Given the description of an element on the screen output the (x, y) to click on. 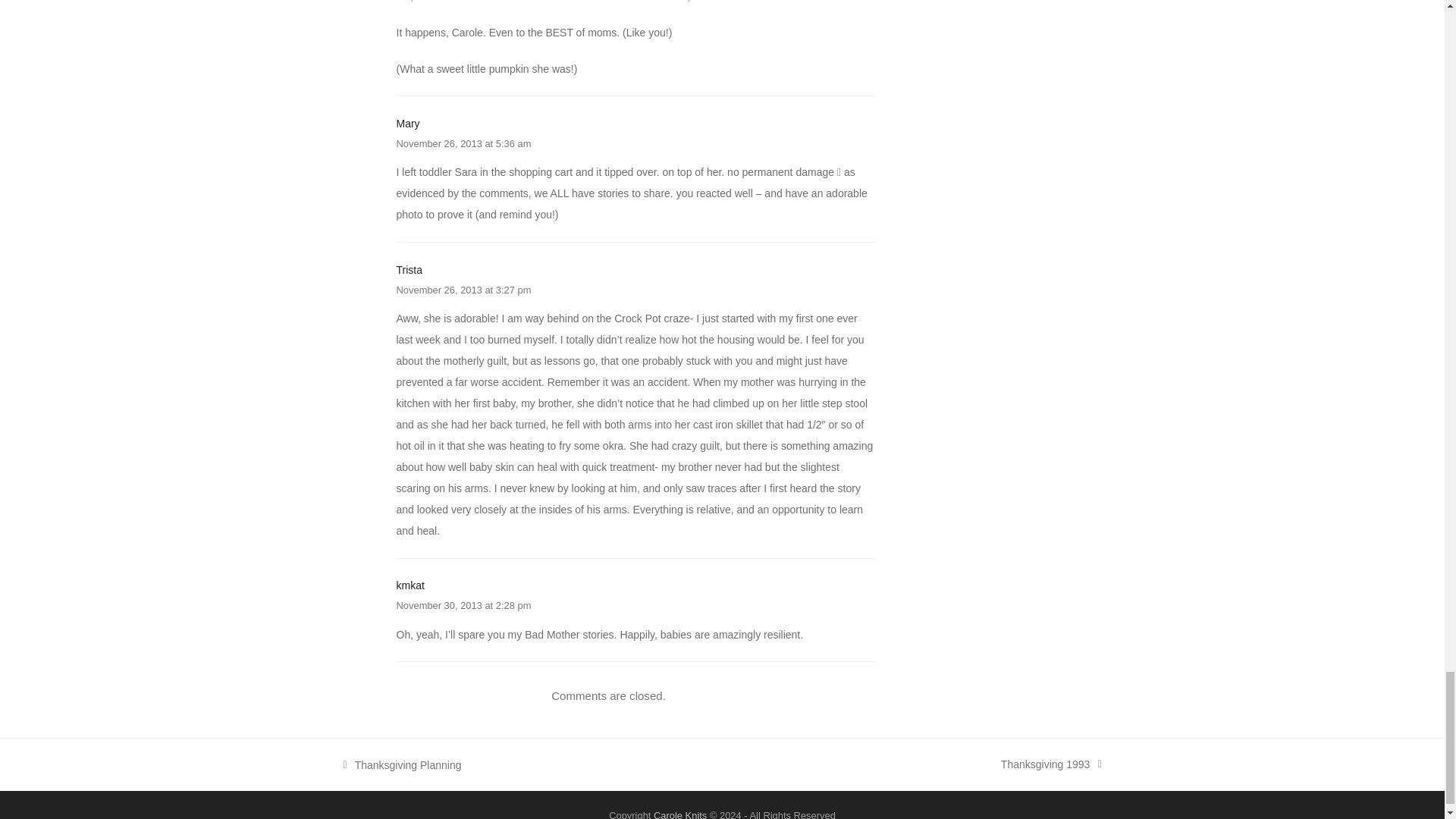
November 30, 2013 at 2:28 pm (463, 604)
November 26, 2013 at 3:27 pm (463, 288)
kmkat (409, 585)
Mary (407, 123)
November 26, 2013 at 5:36 am (463, 143)
